Given the description of an element on the screen output the (x, y) to click on. 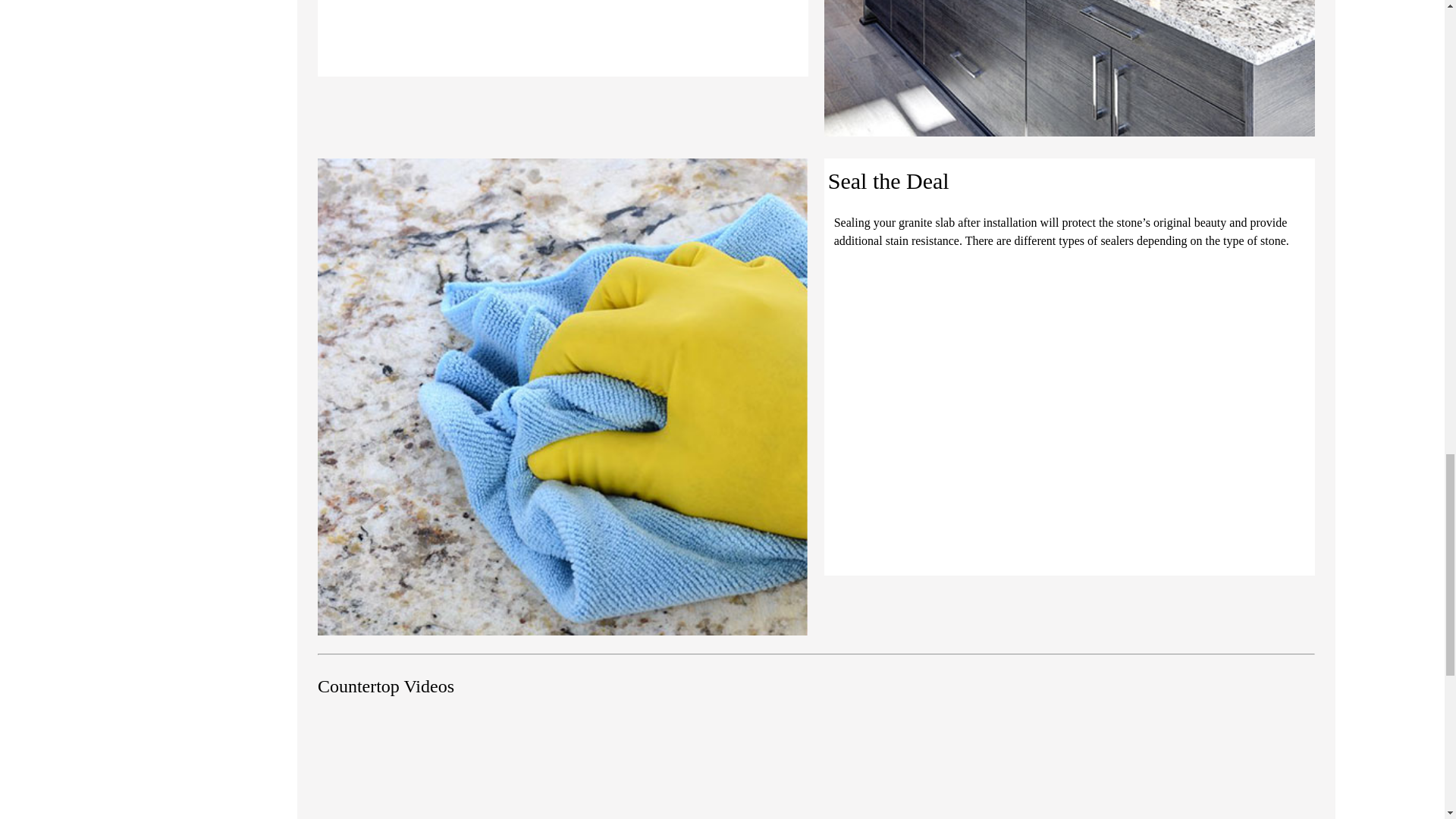
YouTube video player (562, 770)
YouTube video player (1069, 770)
